Given the description of an element on the screen output the (x, y) to click on. 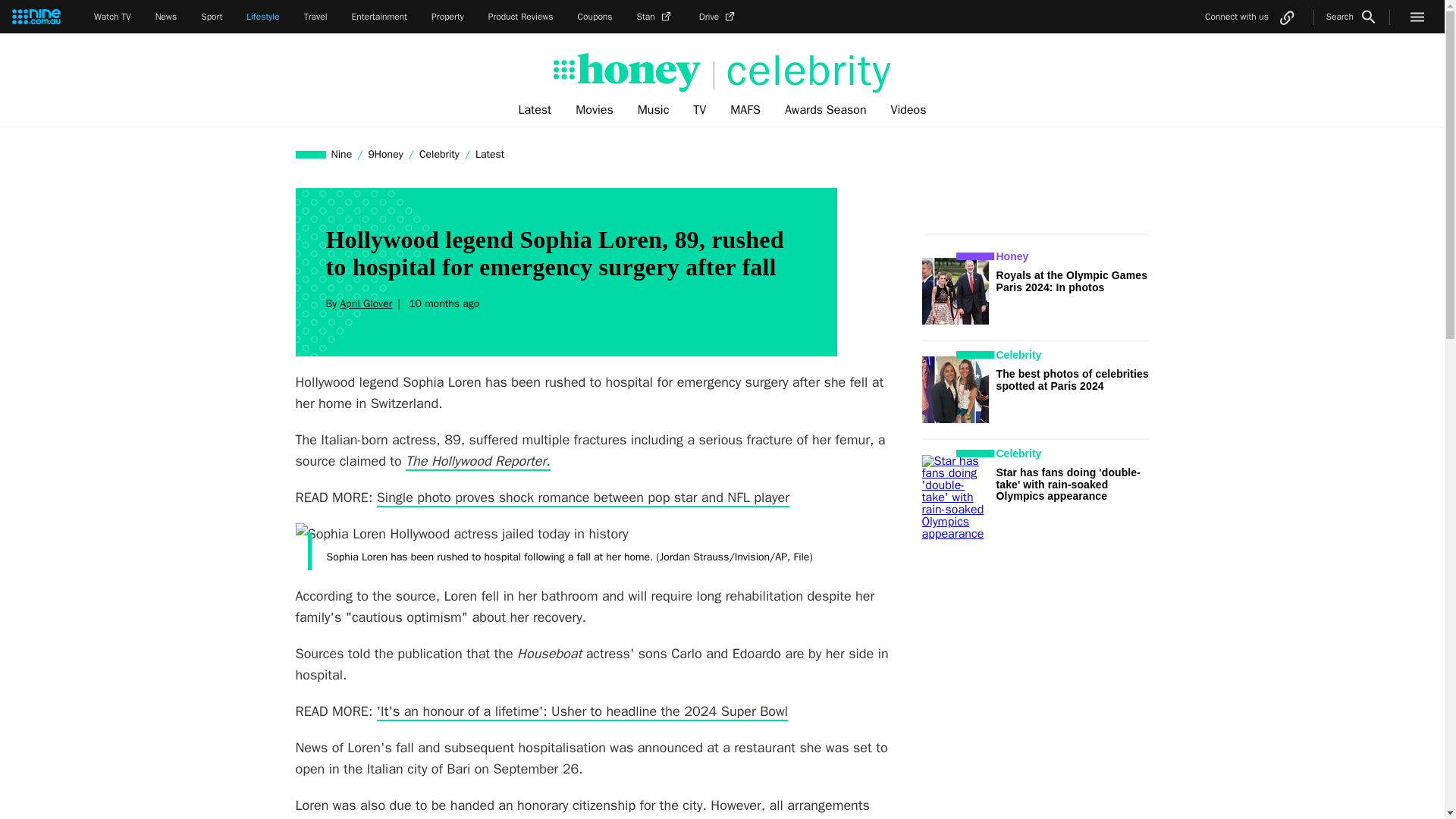
April Glover (365, 303)
Stan (656, 16)
TV (699, 109)
2023-09-25 07:48 (441, 303)
Awards Season (826, 109)
Lifestyle (262, 16)
The Hollywood Reporter. (478, 461)
Nine (342, 154)
The Hollywood Reporter. (478, 461)
Coupons (595, 16)
Movies (594, 109)
Entertainment (379, 16)
9Honey (384, 154)
